Given the description of an element on the screen output the (x, y) to click on. 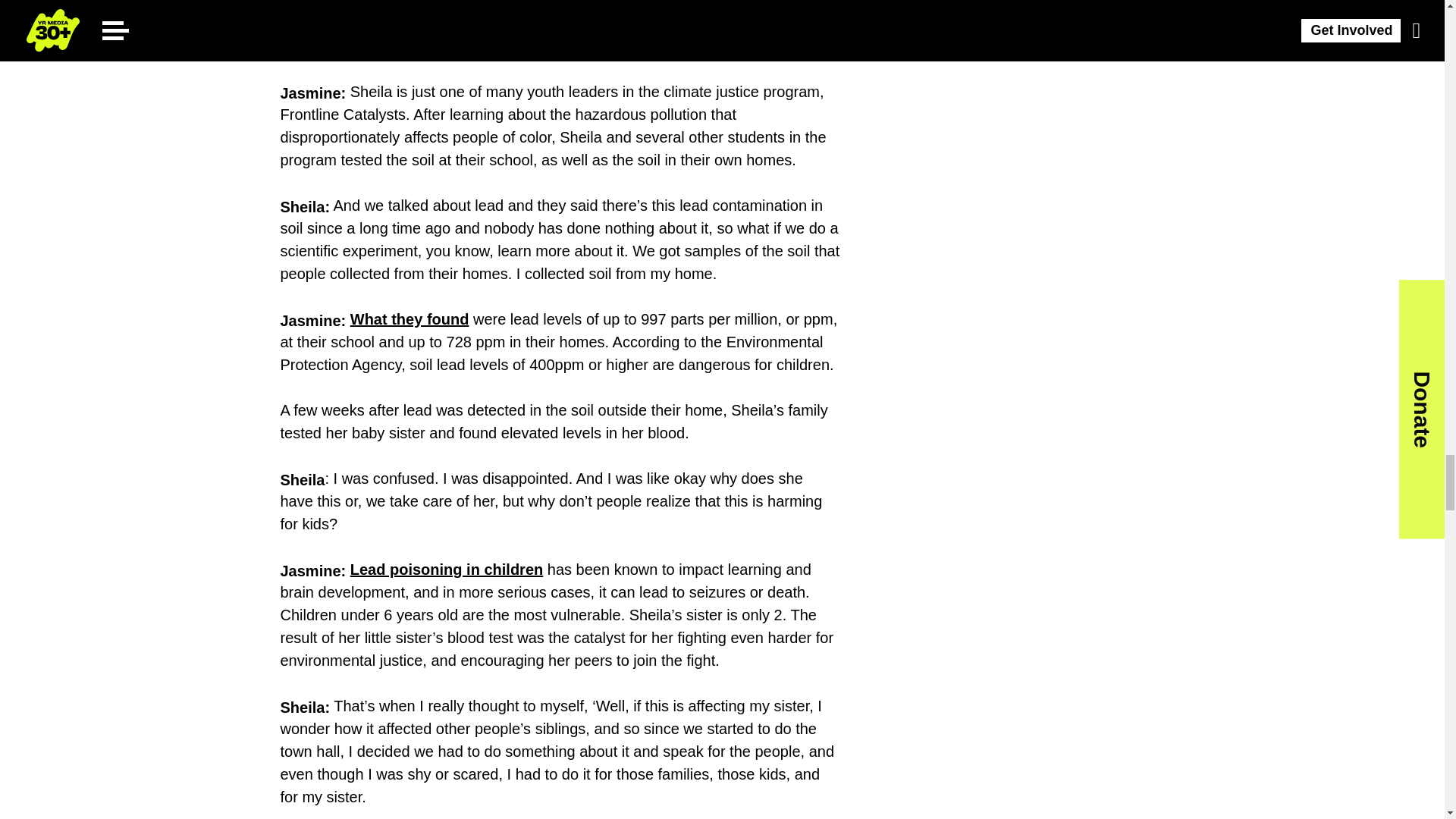
What they found (409, 319)
Lead poisoning in children (446, 569)
